Given the description of an element on the screen output the (x, y) to click on. 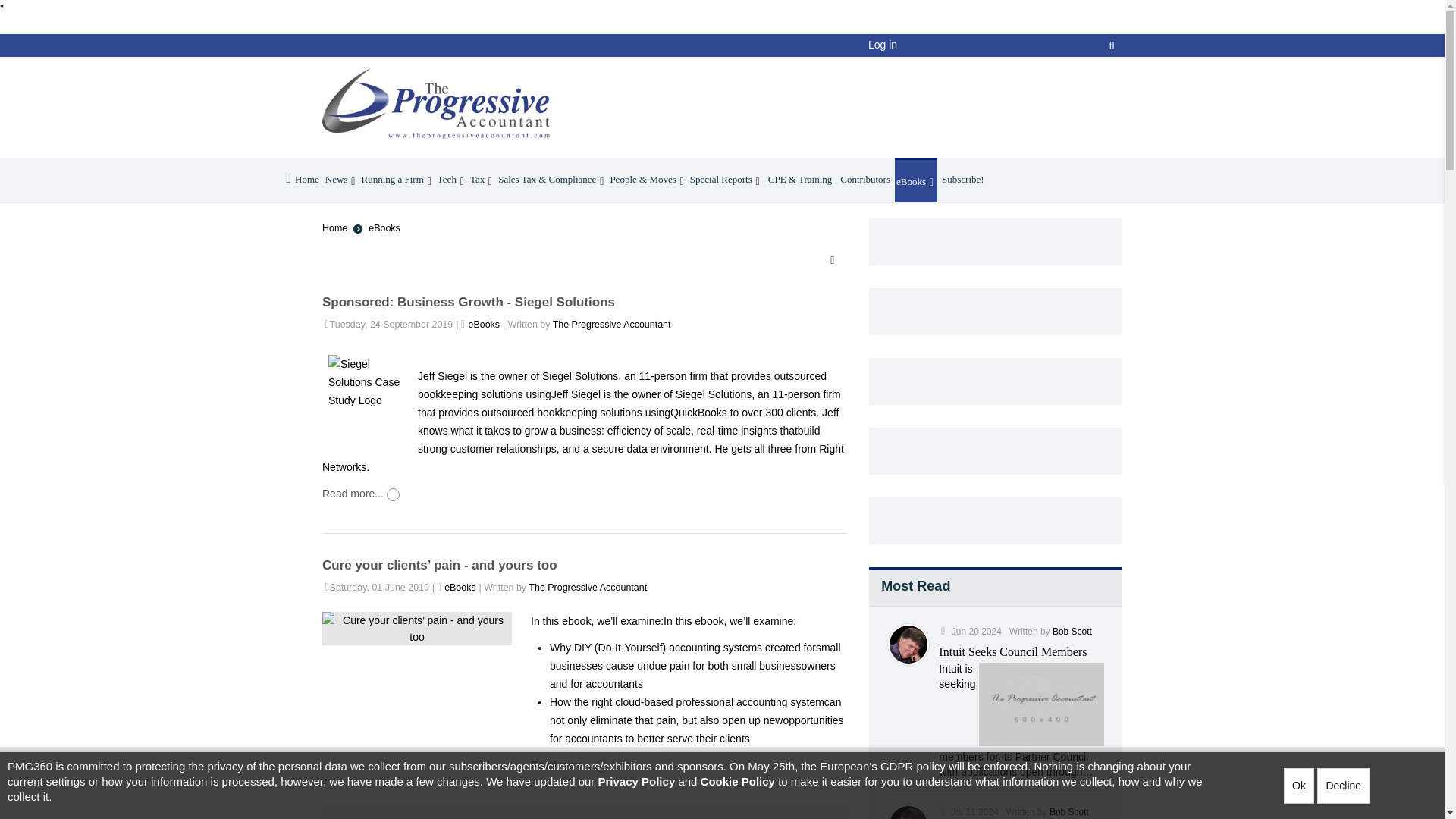
Home (301, 180)
The Progressive Accountant (435, 112)
Log in (881, 44)
Home (301, 180)
Running a Firm (396, 180)
